Given the description of an element on the screen output the (x, y) to click on. 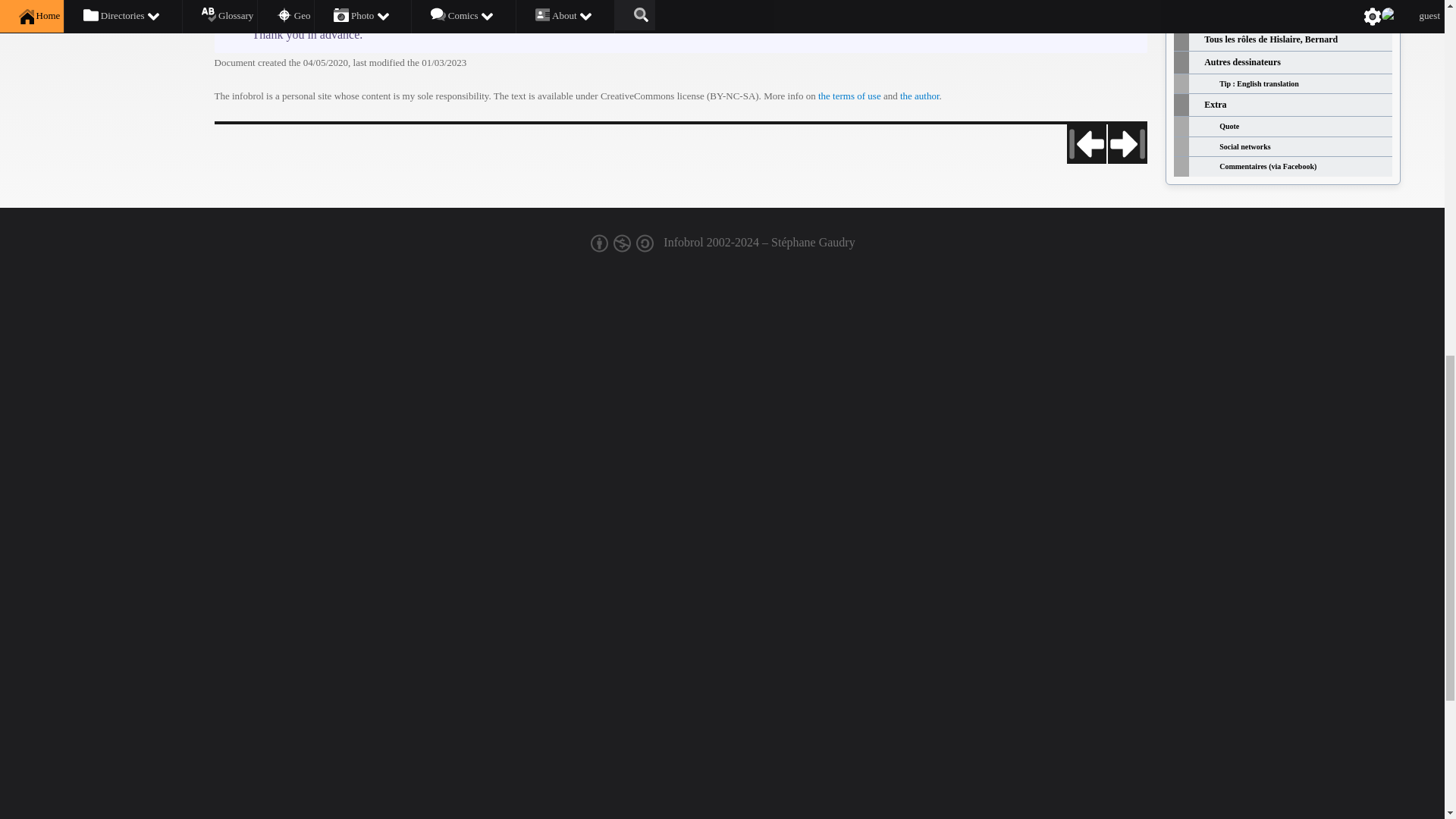
the terms of use (849, 95)
the author (919, 95)
